Given the description of an element on the screen output the (x, y) to click on. 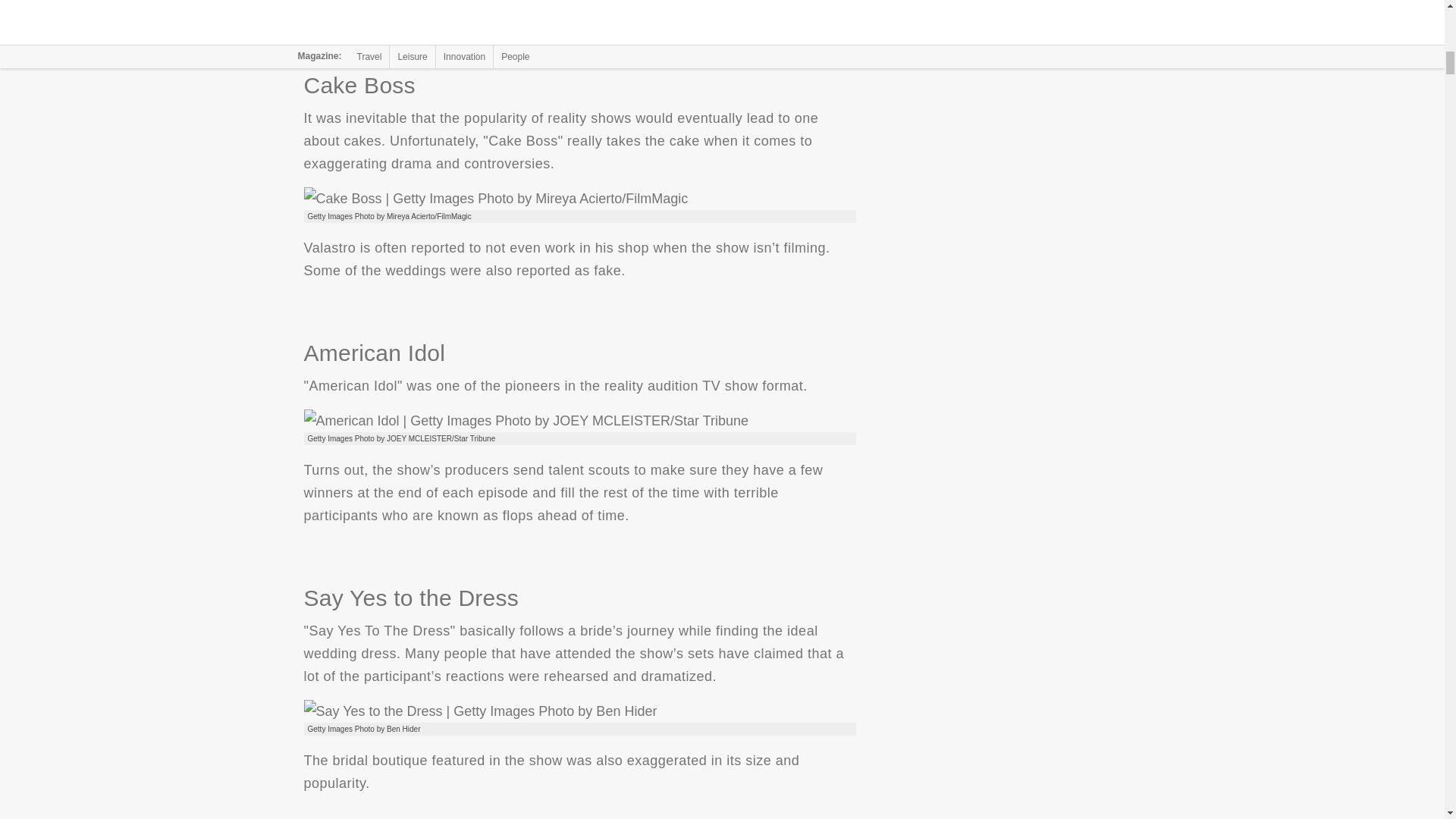
American Idol (525, 420)
Cake Boss (494, 198)
Say Yes to the Dress (479, 711)
